Given the description of an element on the screen output the (x, y) to click on. 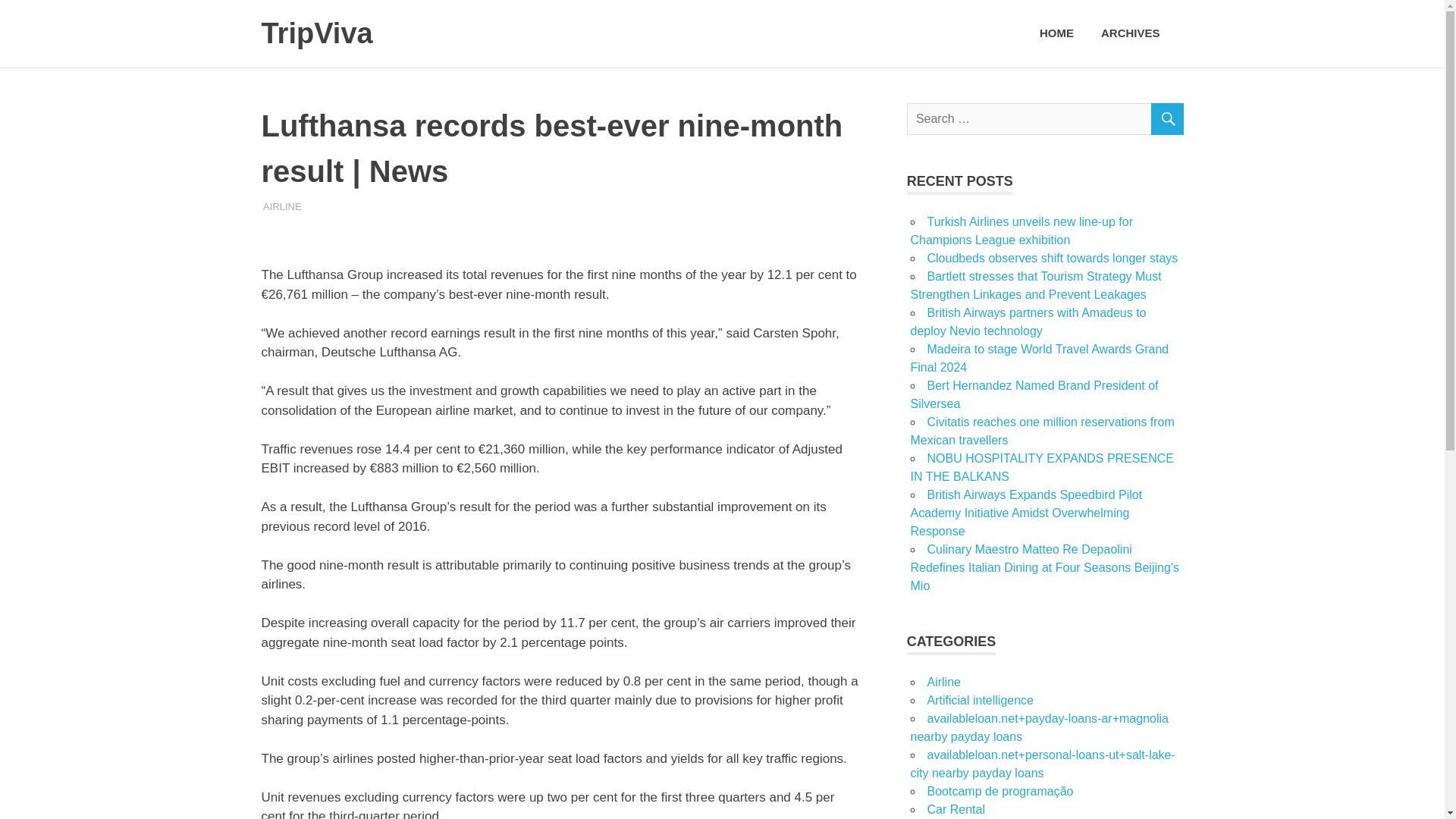
NOBU HOSPITALITY EXPANDS PRESENCE IN THE BALKANS (1041, 467)
Cloudbeds observes shift towards longer stays (1051, 257)
Bert Hernandez Named Brand President of Silversea (1033, 394)
12:42 PM (307, 205)
Search for: (1045, 119)
Artificial intelligence (979, 699)
Madeira to stage World Travel Awards Grand Final 2024 (1039, 358)
TripViva (316, 33)
